Given the description of an element on the screen output the (x, y) to click on. 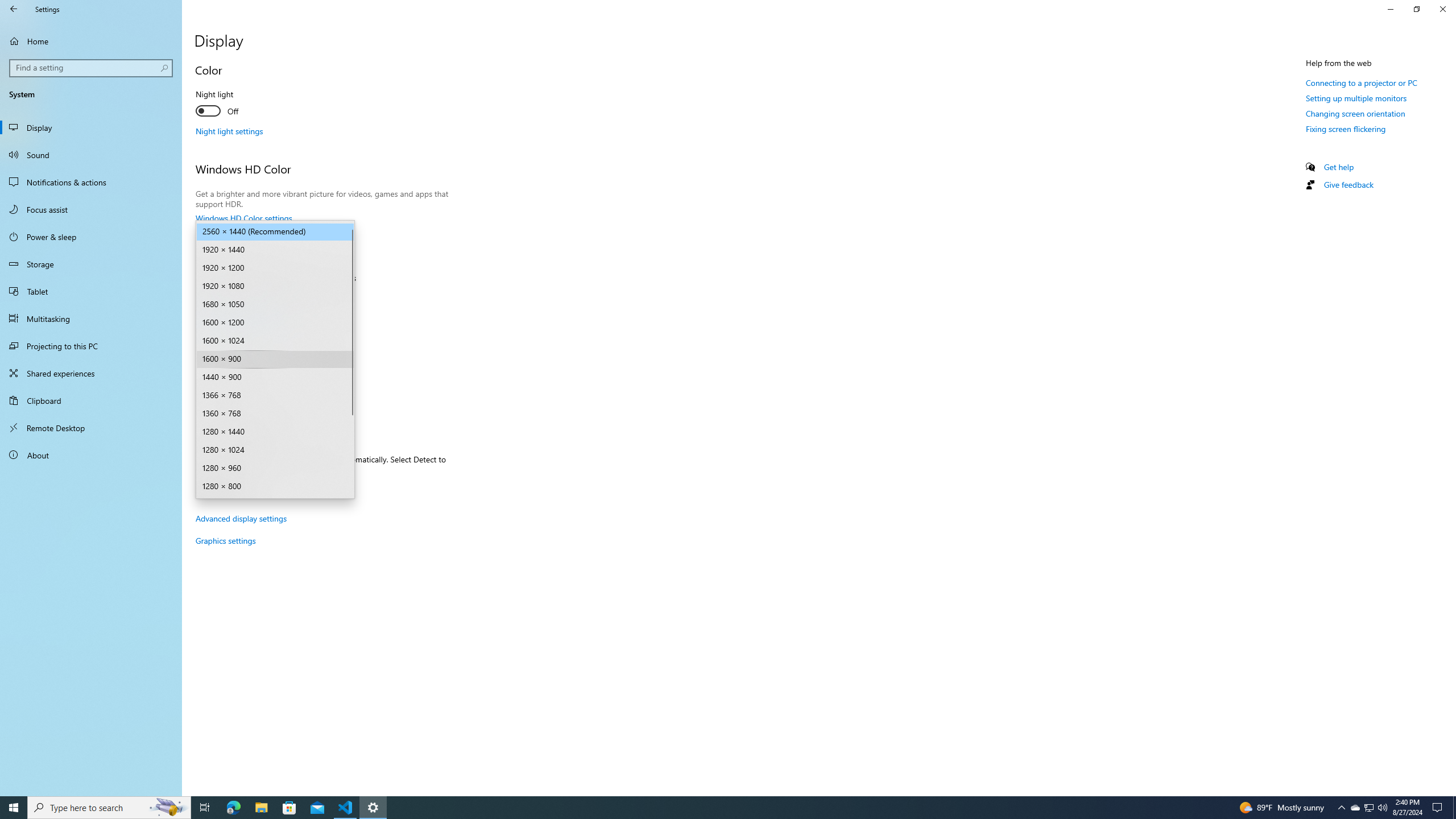
Clipboard (91, 400)
Multitasking (91, 318)
Display orientation (275, 399)
Give feedback (1348, 184)
Night light (237, 104)
Minimize Settings (1390, 9)
Connecting to a projector or PC (1361, 82)
Notifications & actions (91, 181)
Windows HD Color settings (243, 217)
